Given the description of an element on the screen output the (x, y) to click on. 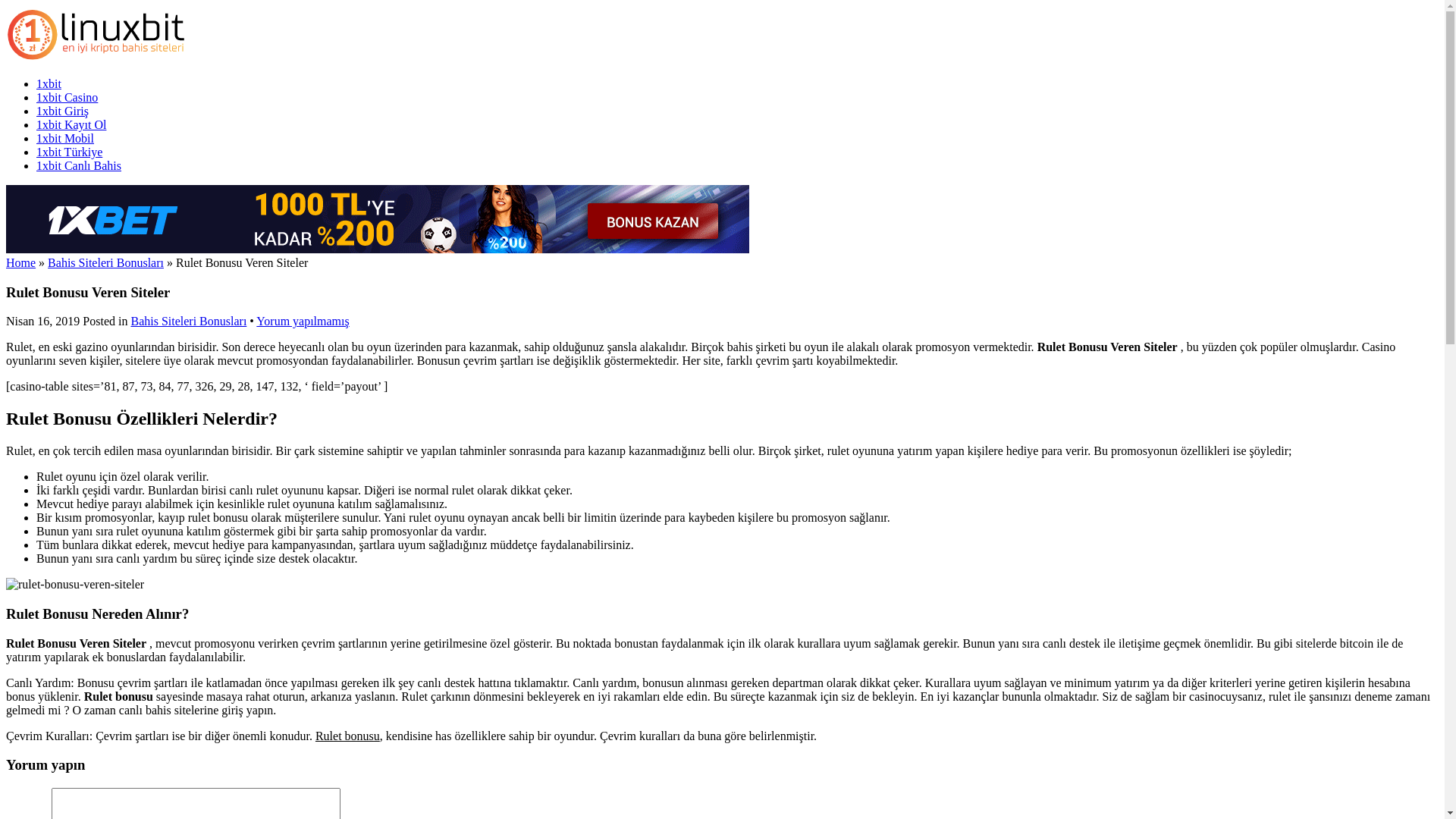
1xbit Casino Element type: text (66, 97)
1xbit Element type: hover (98, 57)
1xbit Mobil Element type: text (65, 137)
1xbet Element type: hover (377, 248)
Home Element type: text (20, 262)
1xbit Element type: text (48, 83)
